Given the description of an element on the screen output the (x, y) to click on. 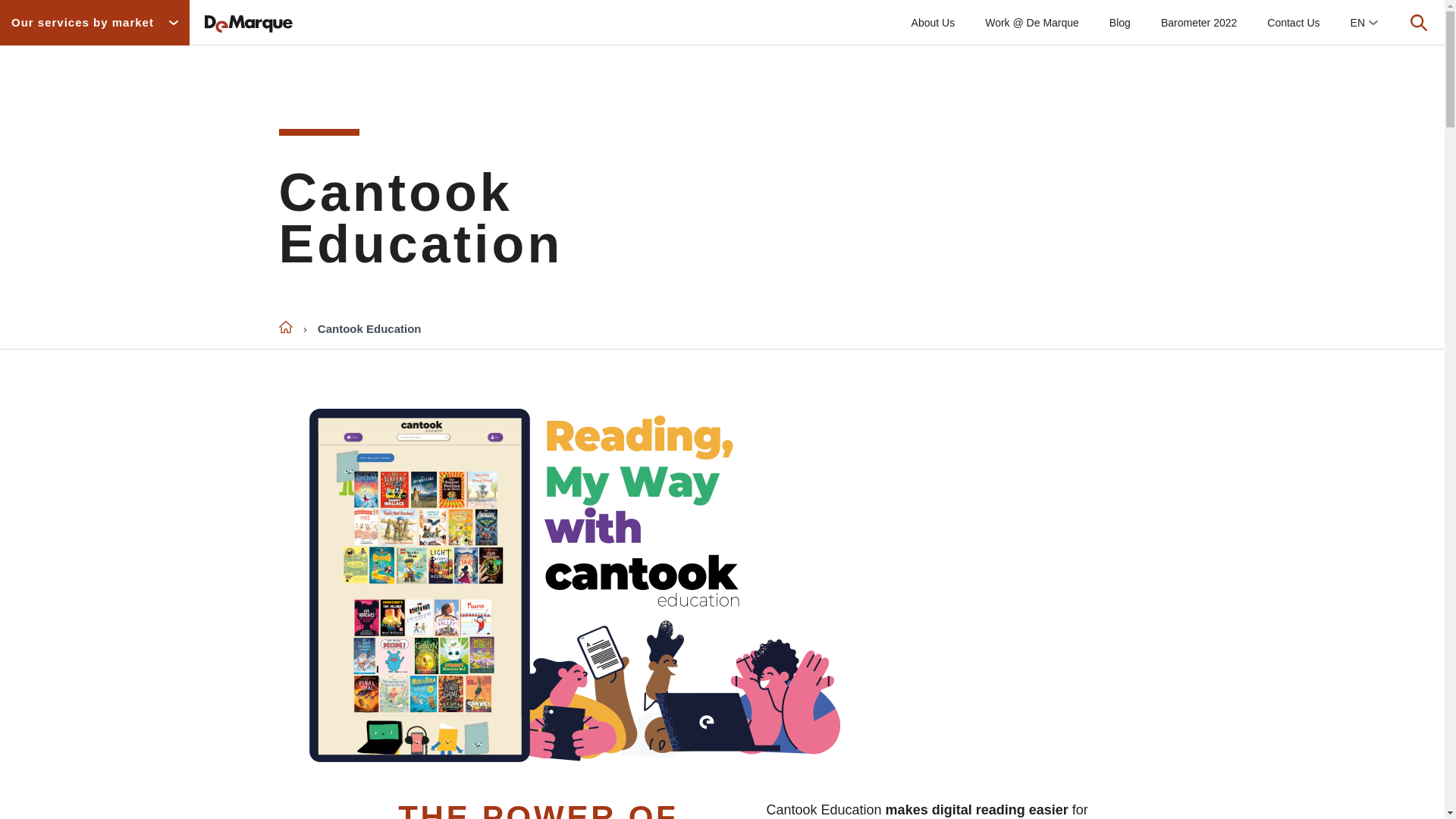
Accueil (285, 326)
About Us (933, 22)
Our services by market (94, 22)
Blog (1119, 22)
Contact Us (1293, 22)
Barometer 2022 (1198, 22)
